Given the description of an element on the screen output the (x, y) to click on. 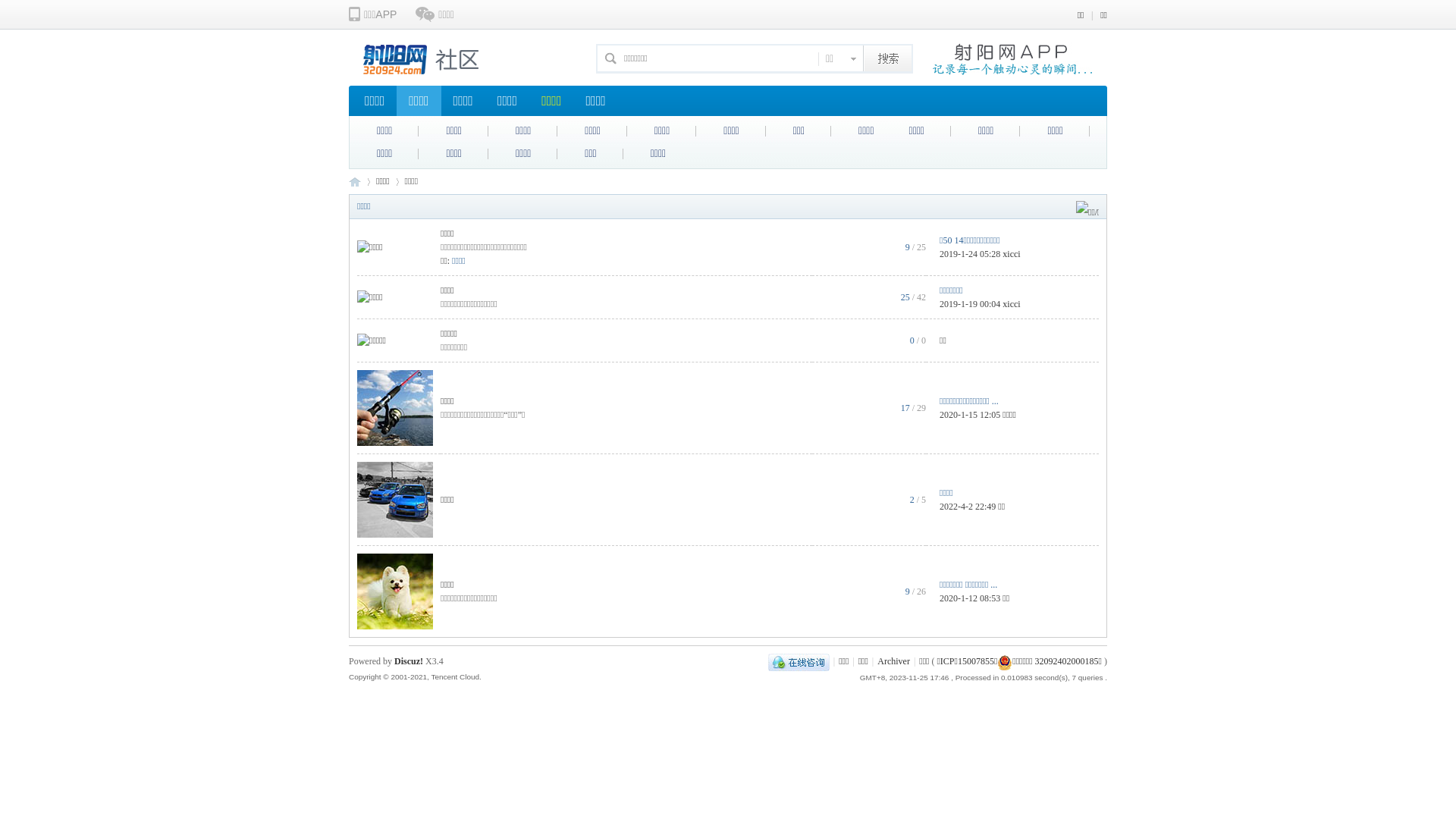
Discuz! Element type: text (408, 660)
true Element type: text (887, 58)
xicci Element type: text (1010, 253)
QQ Element type: hover (798, 660)
Archiver Element type: text (893, 660)
xicci Element type: text (1010, 303)
